Given the description of an element on the screen output the (x, y) to click on. 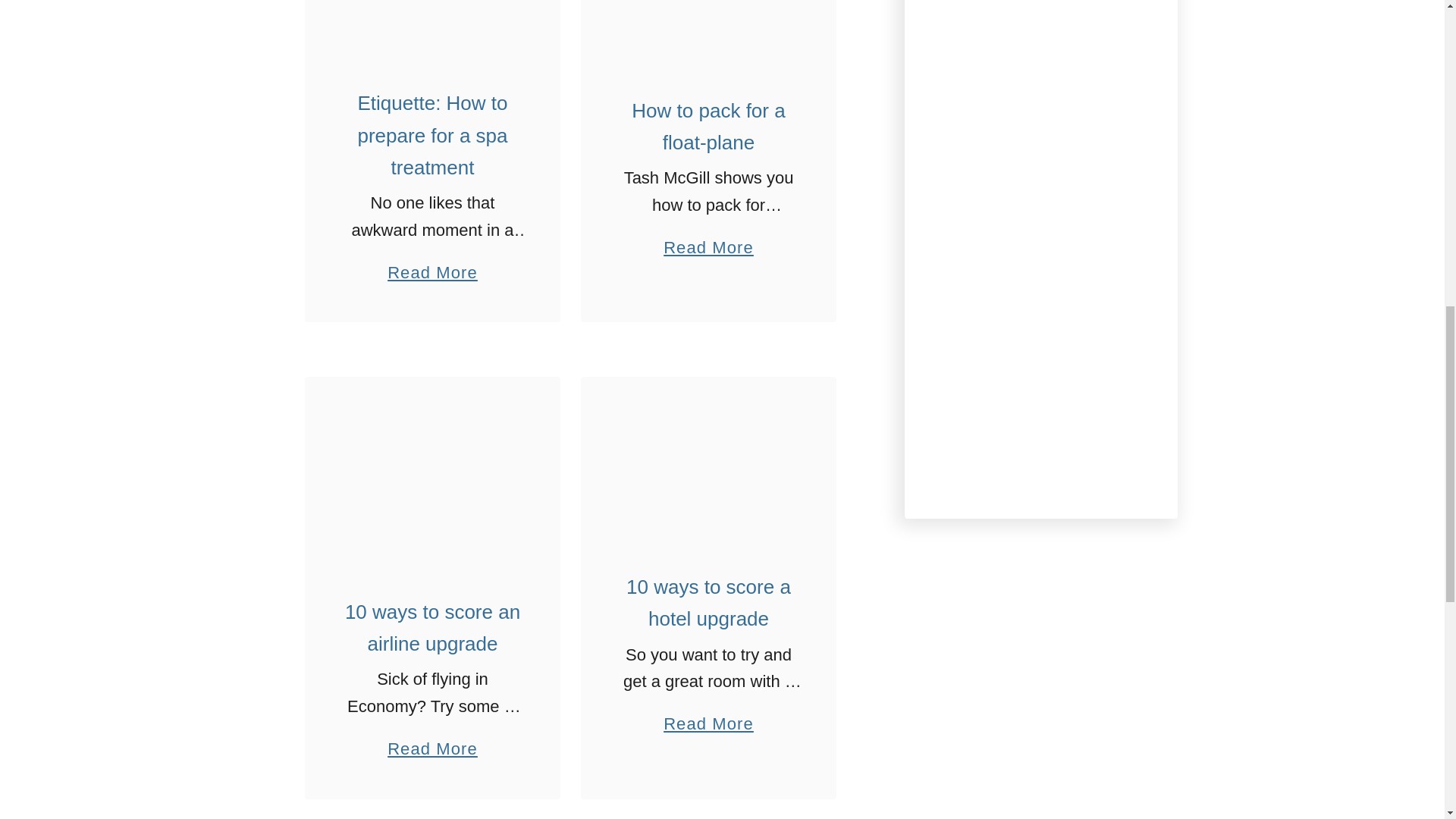
10 ways to score a hotel upgrade (708, 464)
Etiquette: How to prepare for a spa treatment (432, 25)
10 ways to score an airline upgrade (432, 476)
How to pack for a float-plane (708, 29)
